Given the description of an element on the screen output the (x, y) to click on. 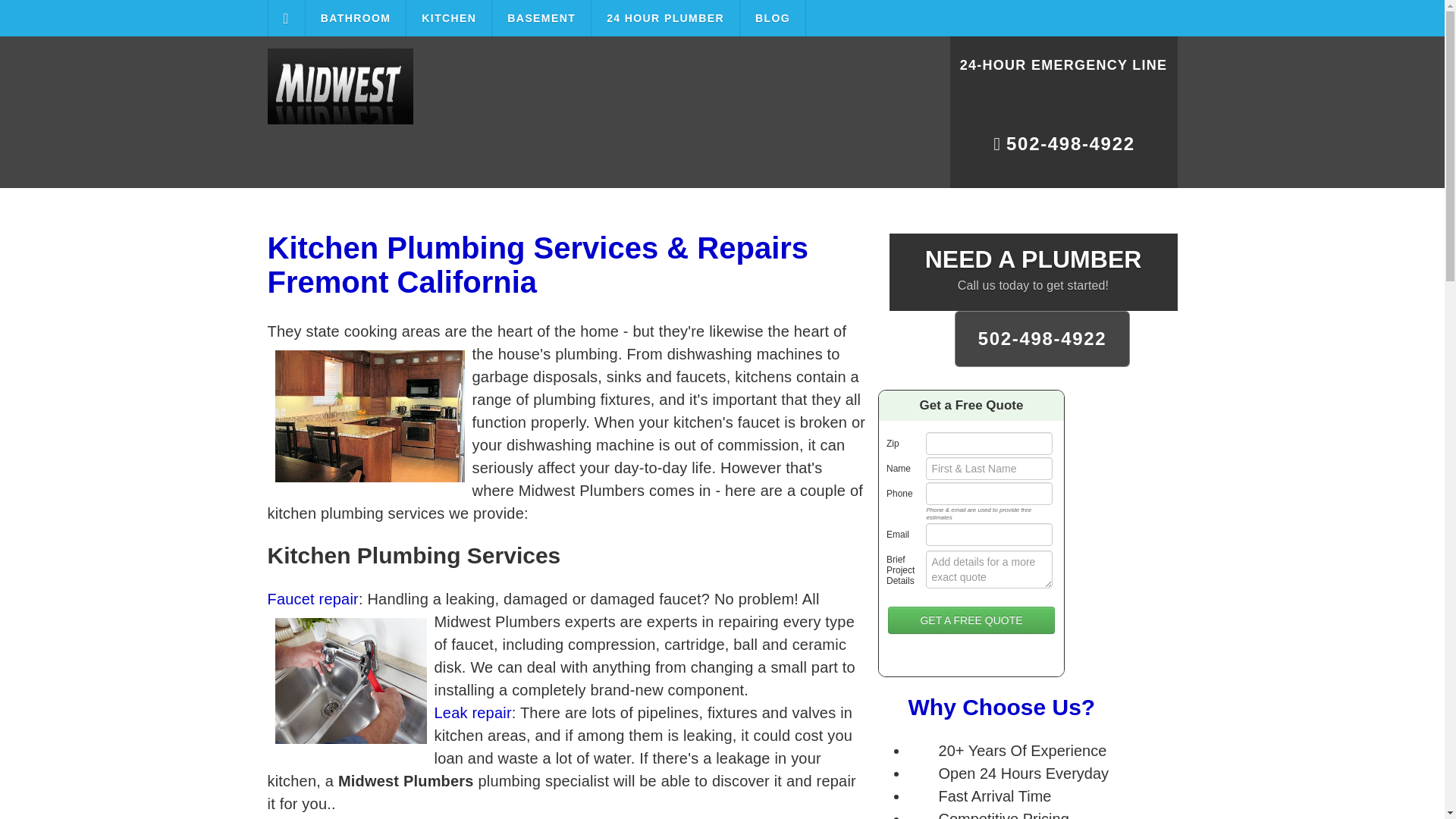
502-498-4922 (1043, 338)
BLOG (772, 18)
24 HOUR PLUMBER (665, 18)
24-HOUR EMERGENCY LINE (1062, 74)
KITCHEN (449, 18)
502-498-4922 (1062, 150)
BATHROOM (356, 18)
BASEMENT (541, 18)
